Given the description of an element on the screen output the (x, y) to click on. 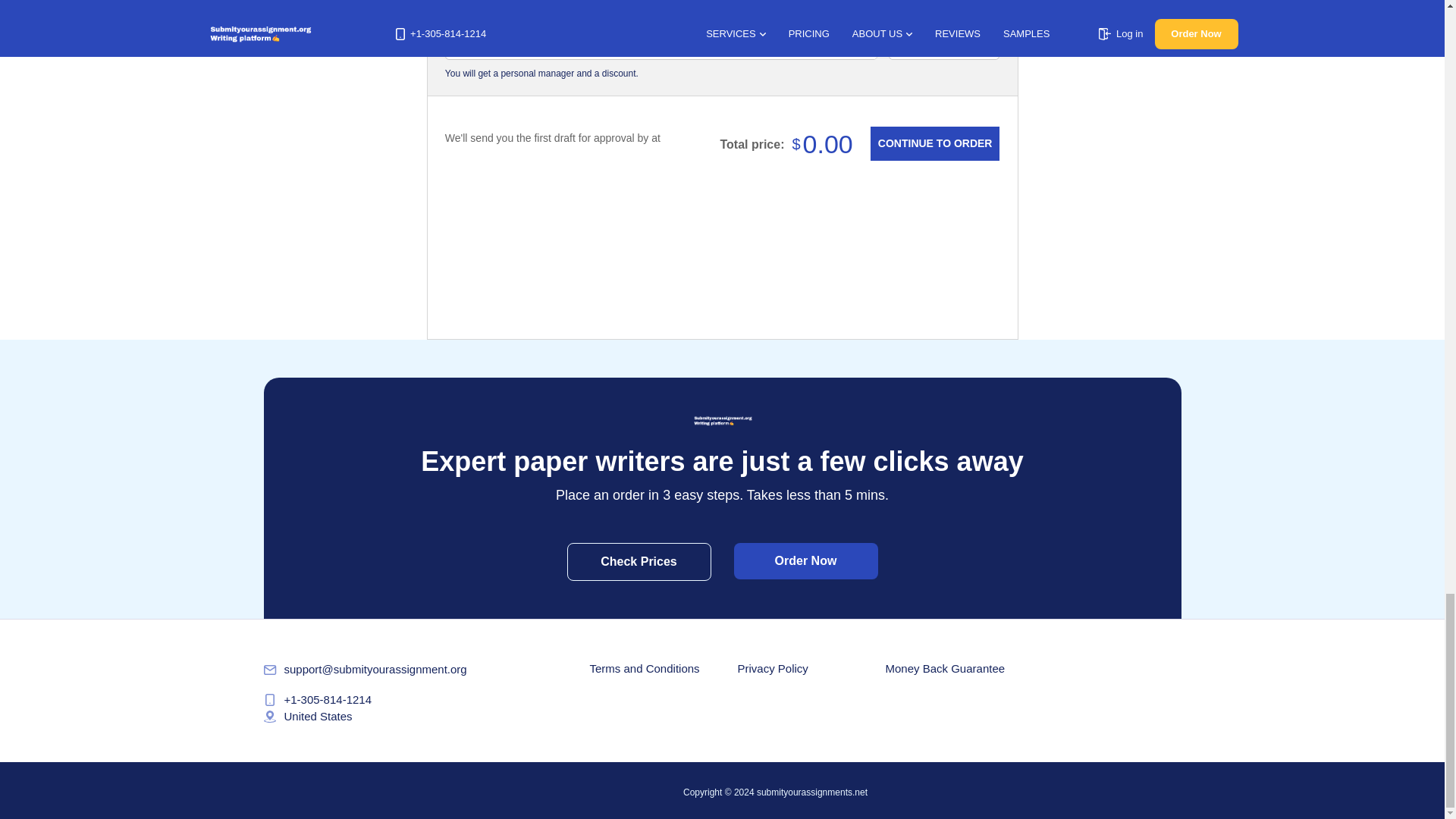
Increase (983, 44)
Continue to order (934, 143)
Decrease (902, 44)
1 (943, 44)
Continue to Order (934, 143)
Check Prices (639, 561)
Continue to order (934, 143)
